Given the description of an element on the screen output the (x, y) to click on. 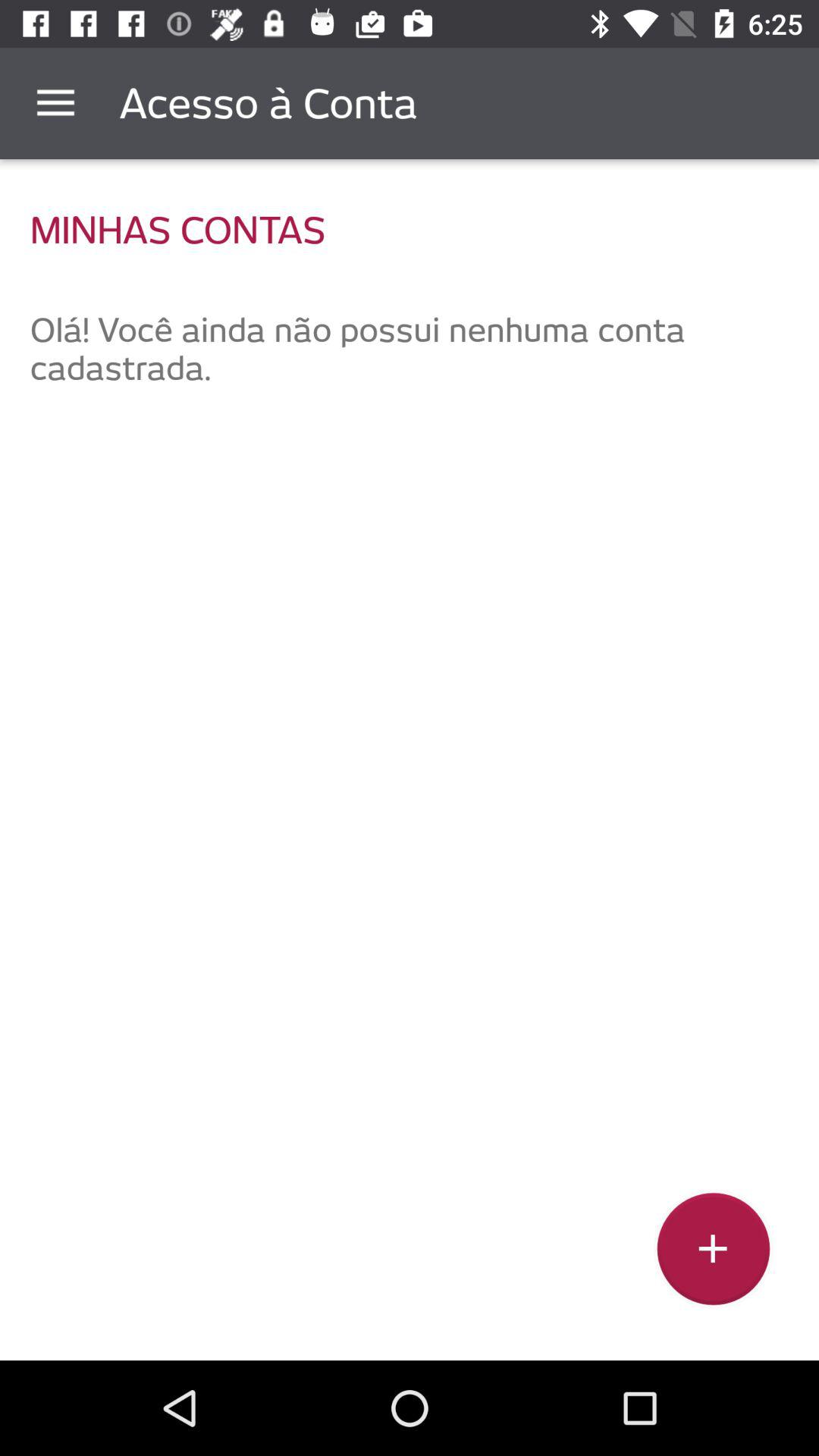
select item above minhas contas item (55, 103)
